Given the description of an element on the screen output the (x, y) to click on. 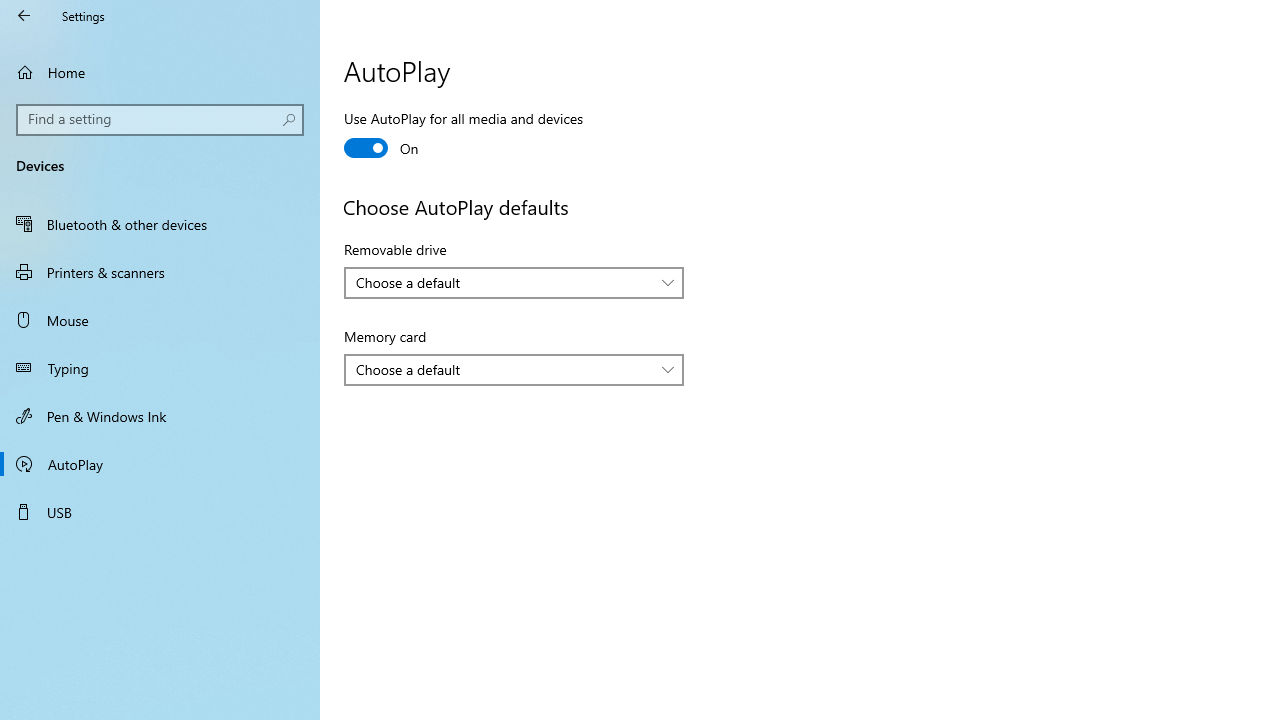
Bluetooth & other devices (160, 223)
Memory card (513, 369)
Mouse (160, 319)
Typing (160, 367)
Printers & scanners (160, 271)
USB (160, 511)
Removable drive (513, 282)
Use AutoPlay for all media and devices (463, 136)
Pen & Windows Ink (160, 415)
AutoPlay (160, 463)
